Given the description of an element on the screen output the (x, y) to click on. 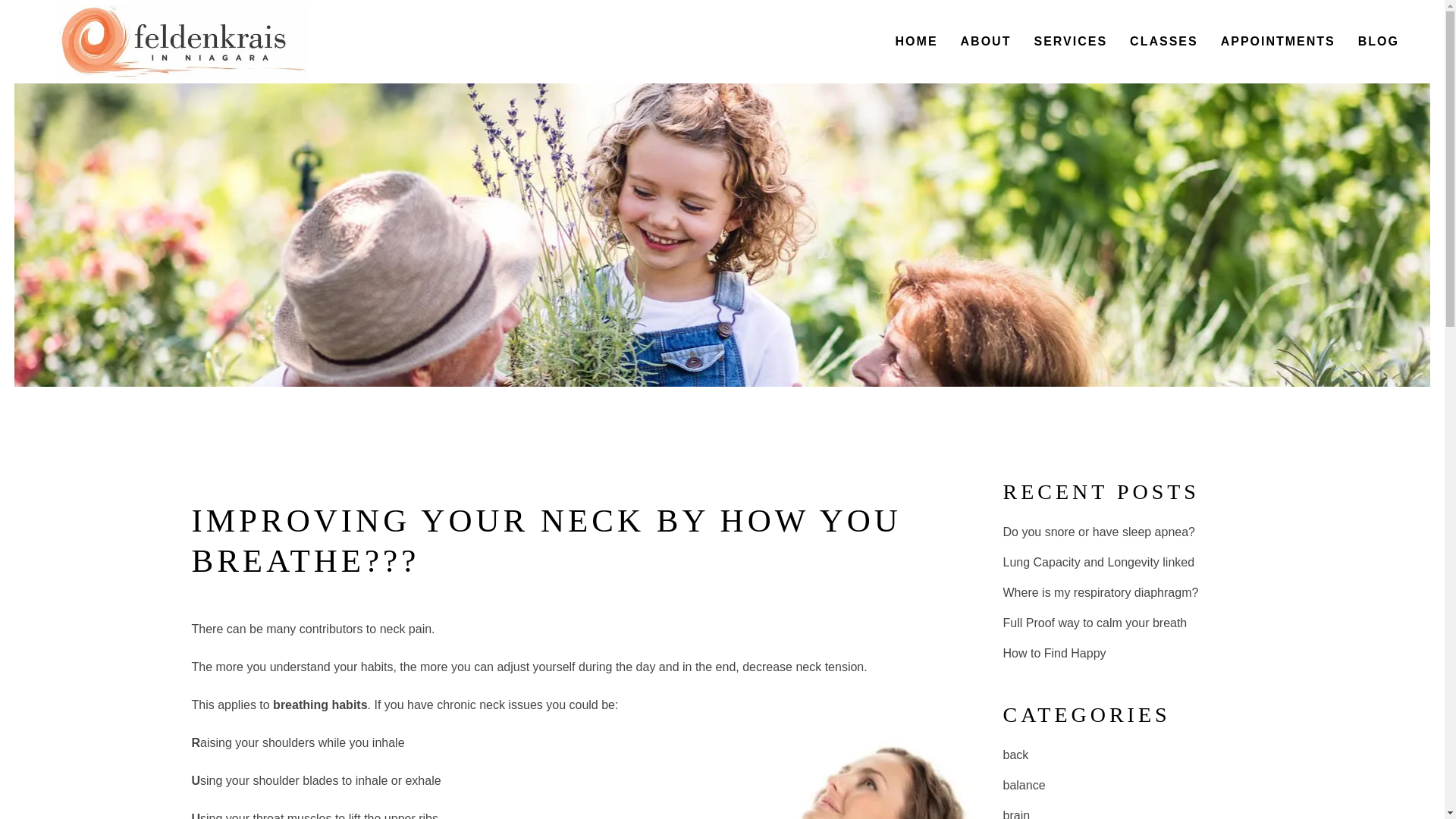
APPOINTMENTS (1277, 41)
ABOUT (986, 41)
CLASSES (1163, 41)
BLOG (1378, 41)
SERVICES (1070, 41)
HOME (916, 41)
